Given the description of an element on the screen output the (x, y) to click on. 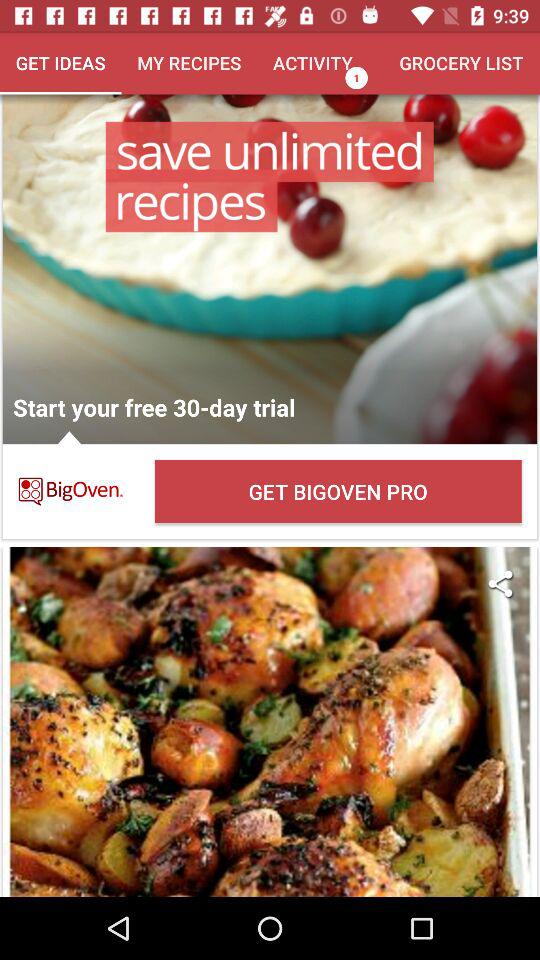
open the get bigoven pro (337, 491)
